Given the description of an element on the screen output the (x, y) to click on. 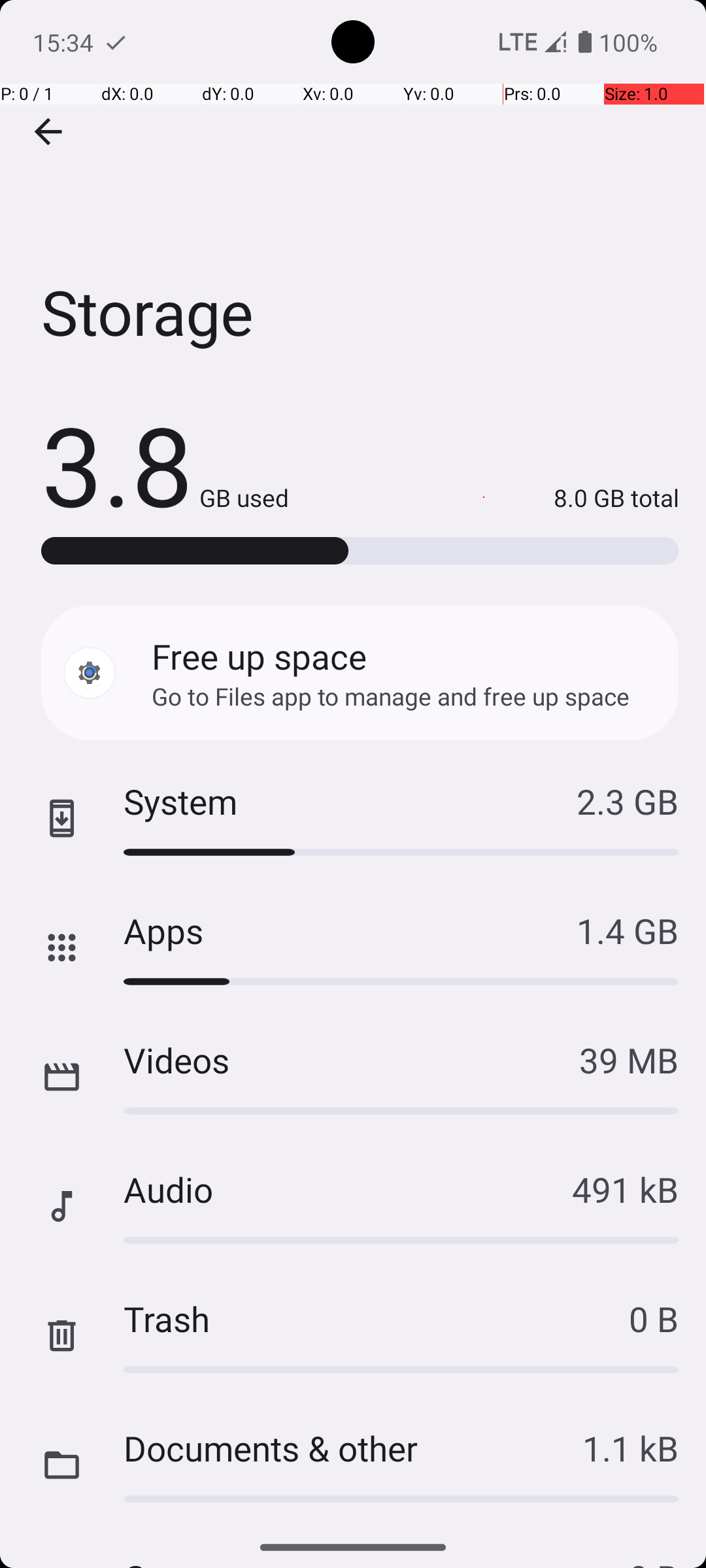
3.8 GB used Element type: android.widget.TextView (164, 463)
1.4 GB Element type: android.widget.TextView (627, 930)
39 MB Element type: android.widget.TextView (628, 1059)
491 kB Element type: android.widget.TextView (624, 1189)
1.1 kB Element type: android.widget.TextView (630, 1447)
